Given the description of an element on the screen output the (x, y) to click on. 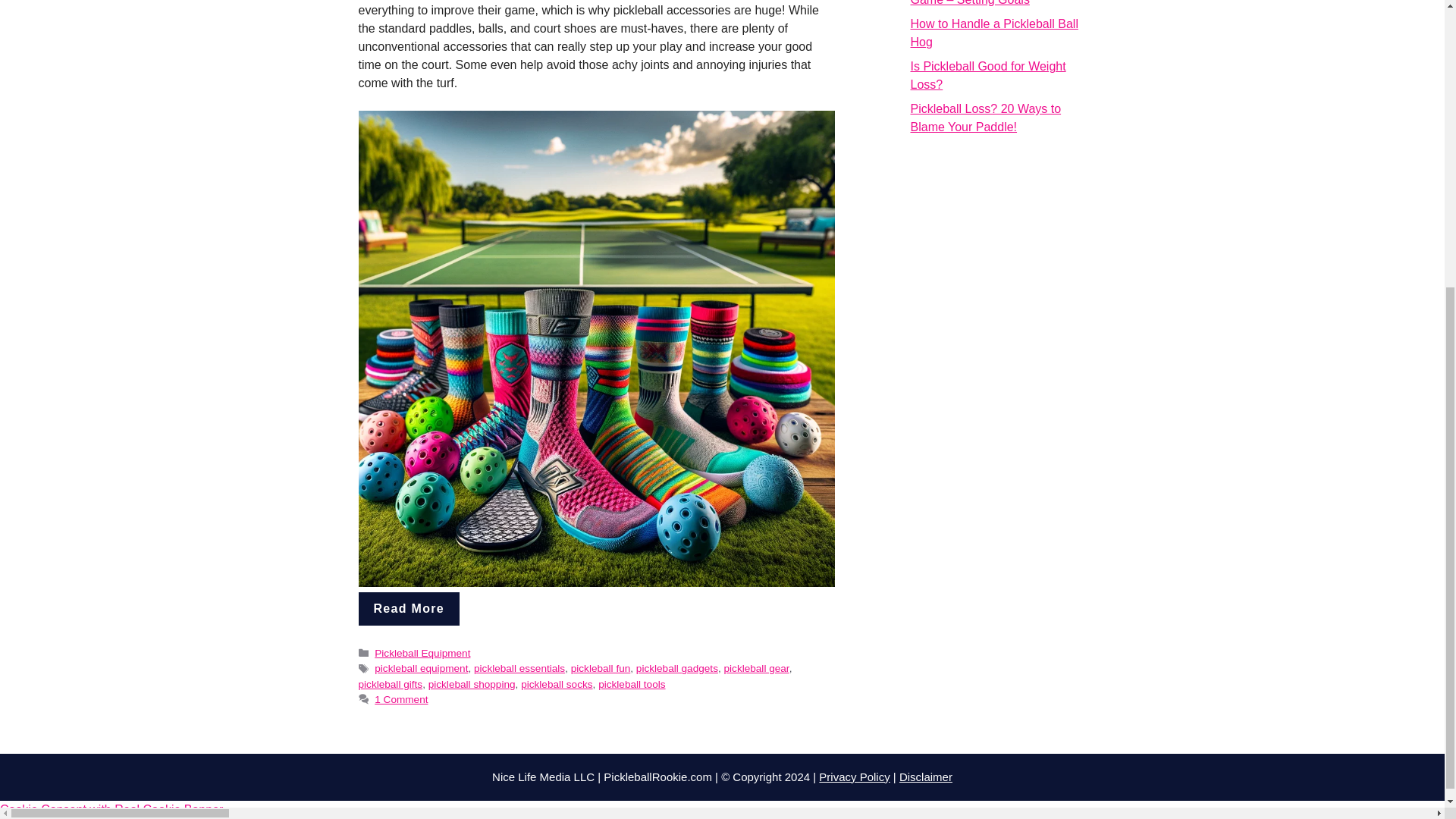
pickleball shopping (471, 684)
Pickleball Accessories As Gifts or Self Love (409, 608)
1 Comment (401, 699)
pickleball gear (756, 668)
Cookie Consent with Real Cookie Banner (111, 809)
Read More (409, 608)
pickleball gadgets (676, 668)
Pickleball Loss? 20 Ways to Blame Your Paddle! (985, 117)
Is Pickleball Good for Weight Loss? (987, 74)
pickleball equipment (420, 668)
How to Handle a Pickleball Ball Hog (993, 32)
pickleball tools (631, 684)
Disclaimer (925, 776)
Privacy Policy (853, 776)
pickleball fun (600, 668)
